Given the description of an element on the screen output the (x, y) to click on. 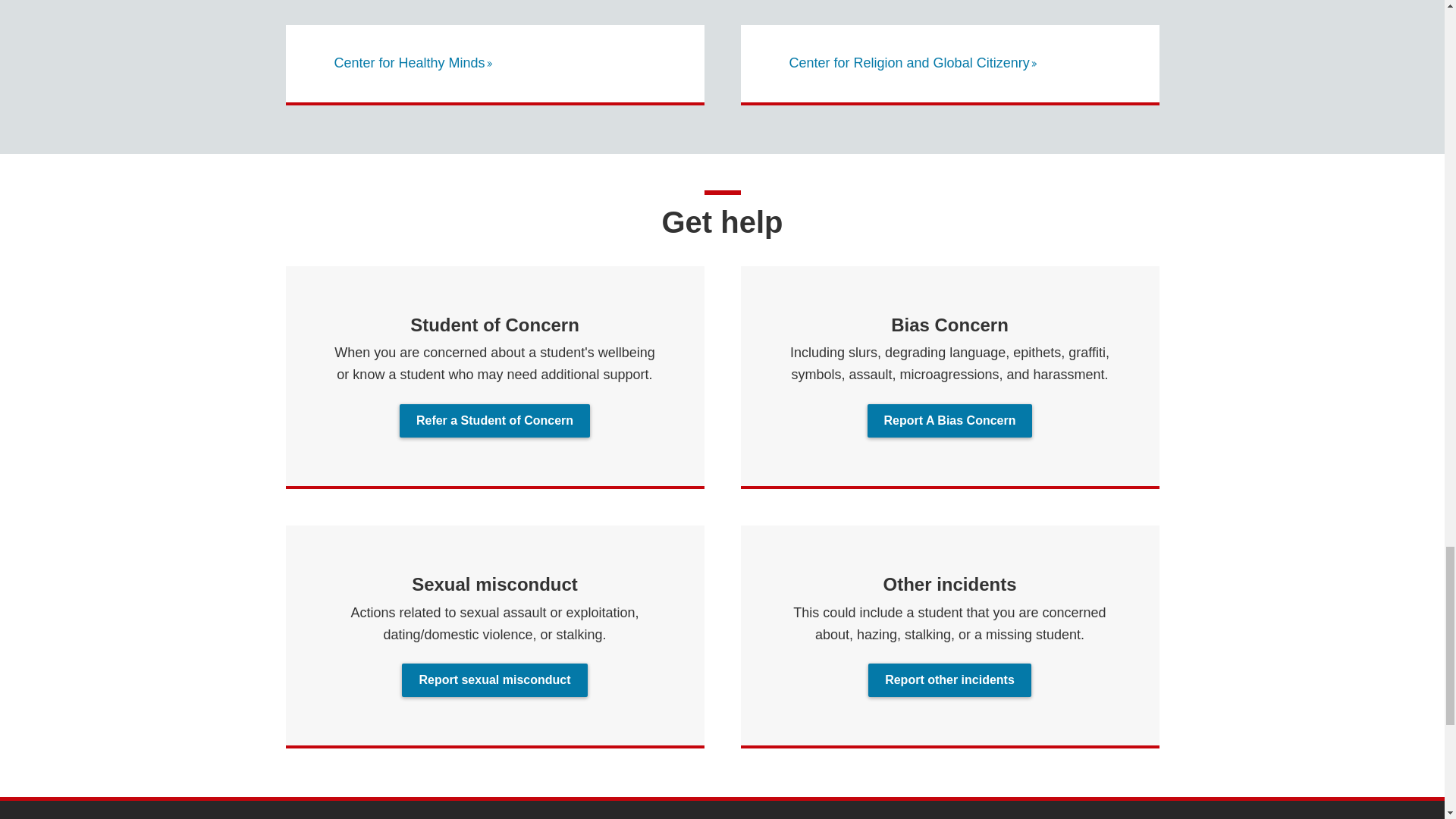
Center for Religion and Global Citizenry More (913, 62)
Report sexual misconduct (493, 679)
Refer a Student of Concern (493, 420)
Center for Healthy Minds More (413, 62)
More (1034, 62)
Report A Bias Concern (949, 420)
More (489, 62)
Report other incidents (948, 679)
